Given the description of an element on the screen output the (x, y) to click on. 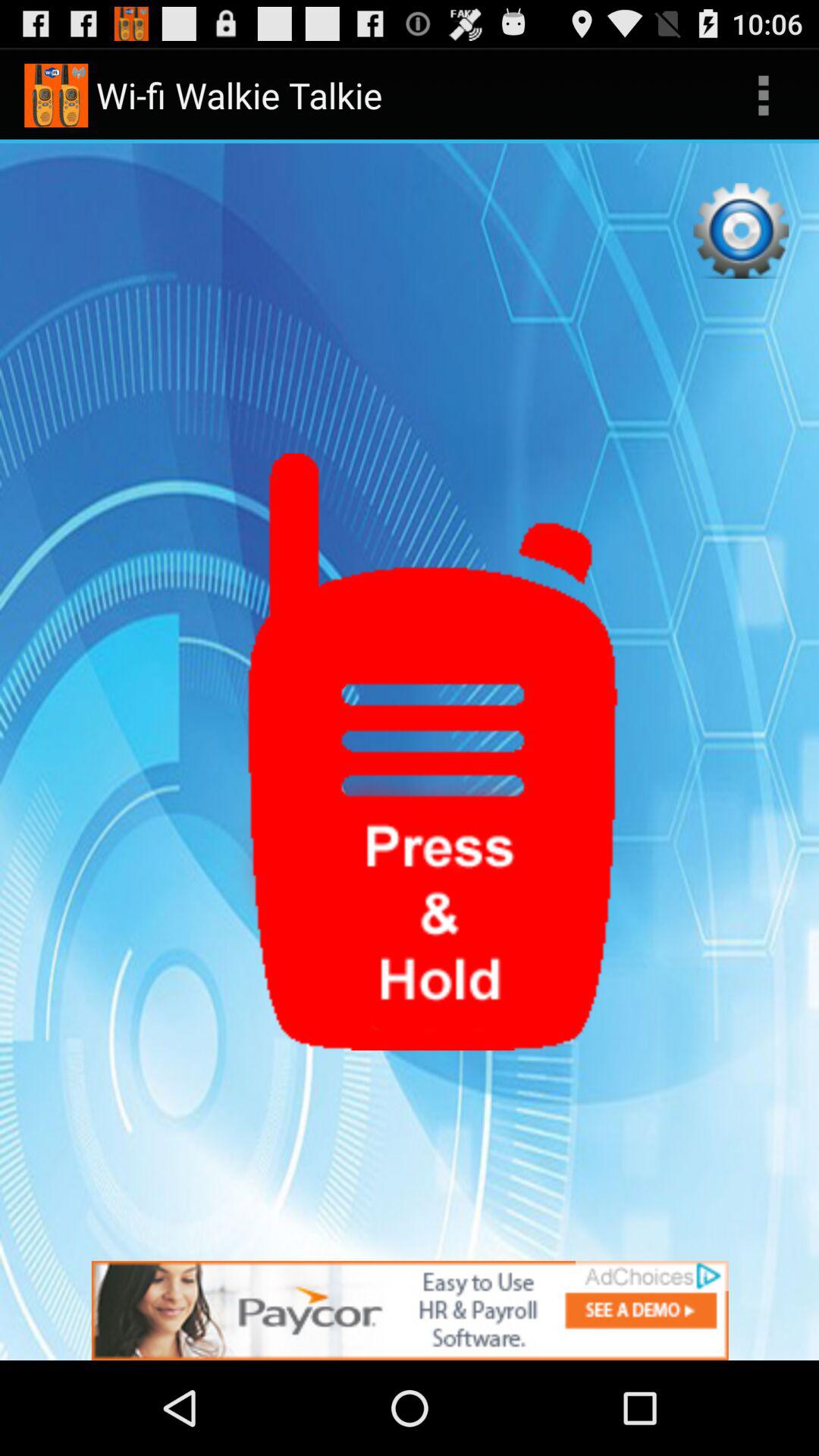
settings (740, 230)
